Given the description of an element on the screen output the (x, y) to click on. 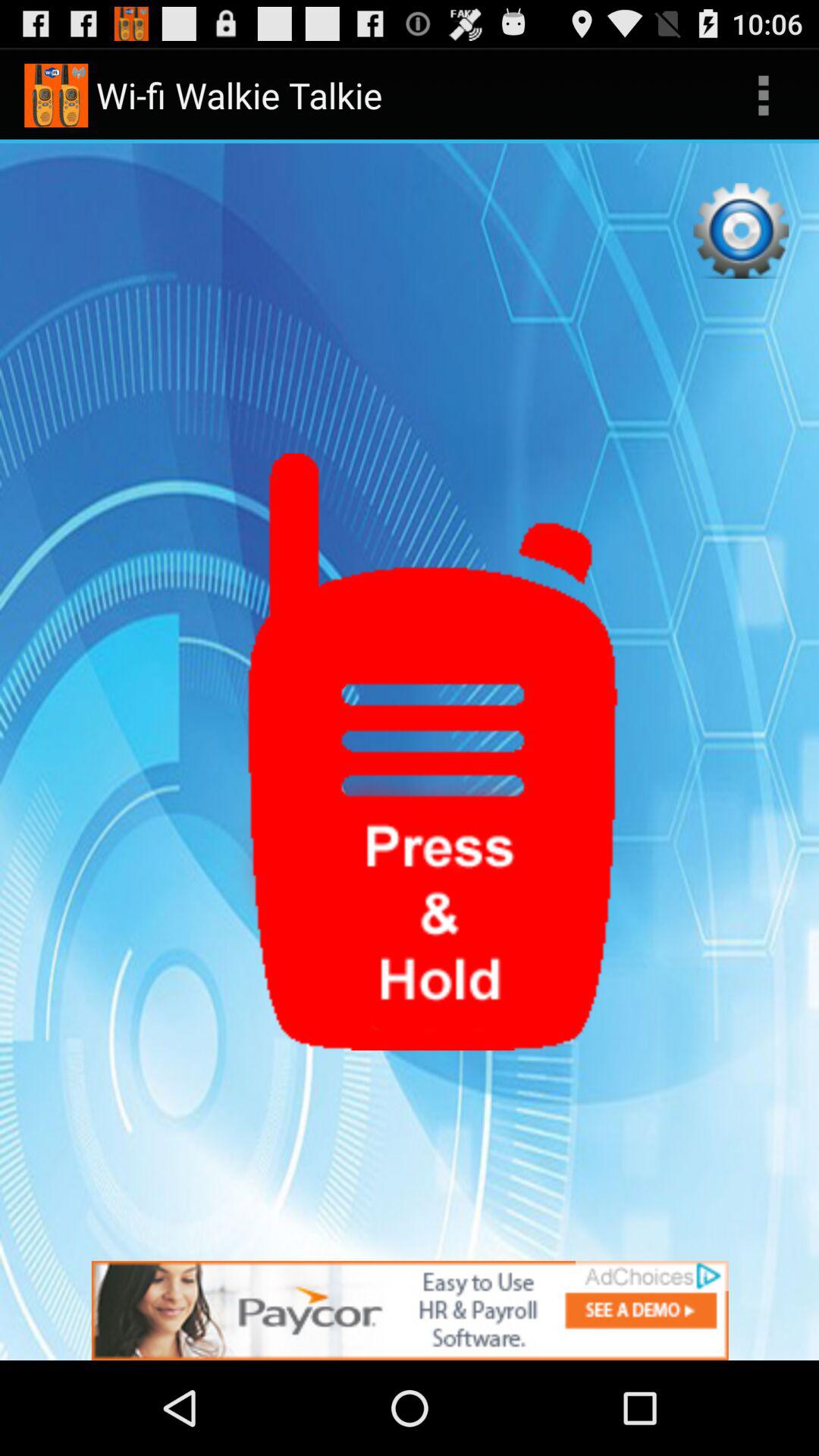
settings (740, 230)
